Given the description of an element on the screen output the (x, y) to click on. 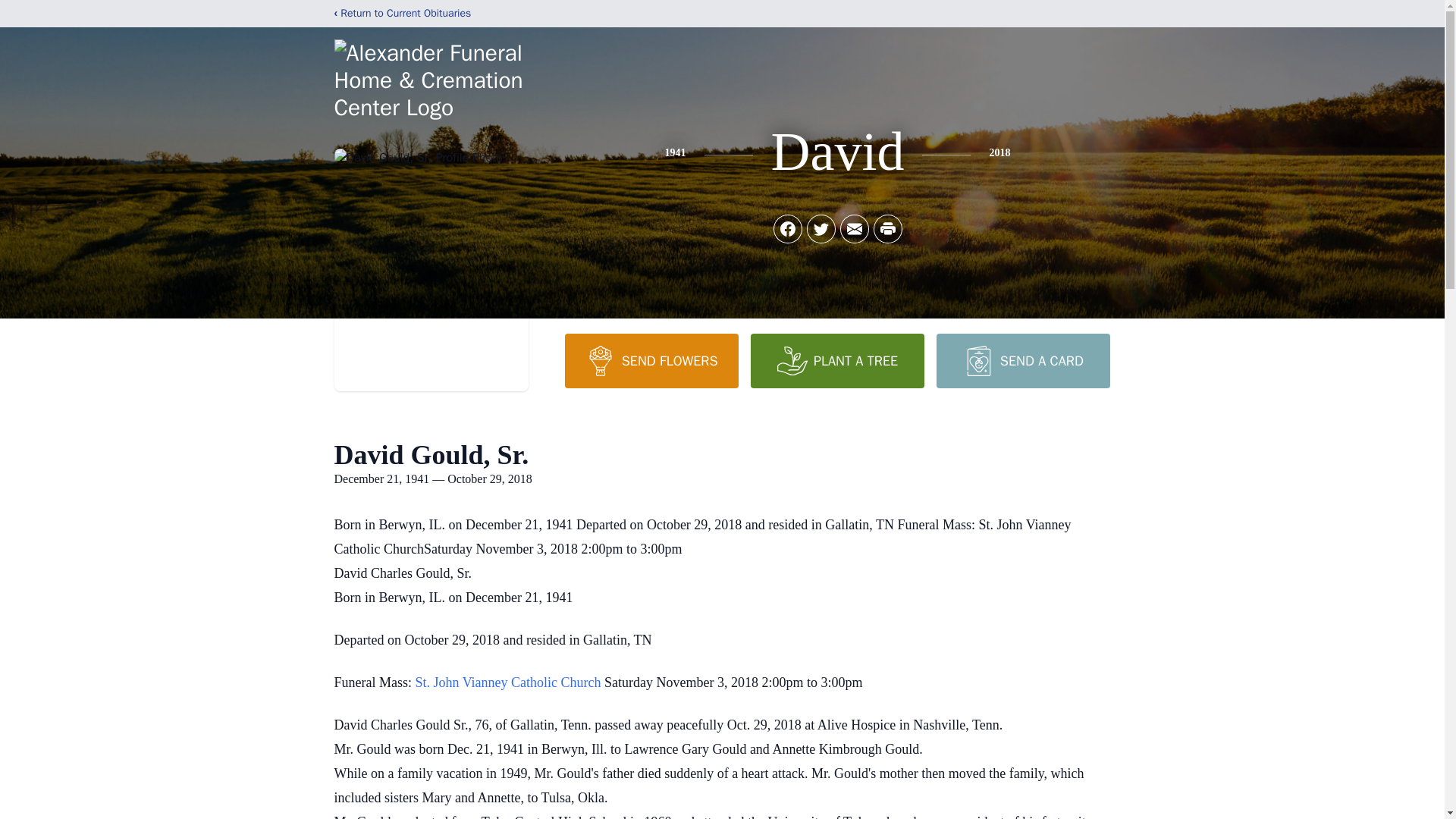
SEND FLOWERS (651, 360)
PLANT A TREE (837, 360)
SEND A CARD (1022, 360)
St. John Vianney Catholic Church (509, 682)
